Given the description of an element on the screen output the (x, y) to click on. 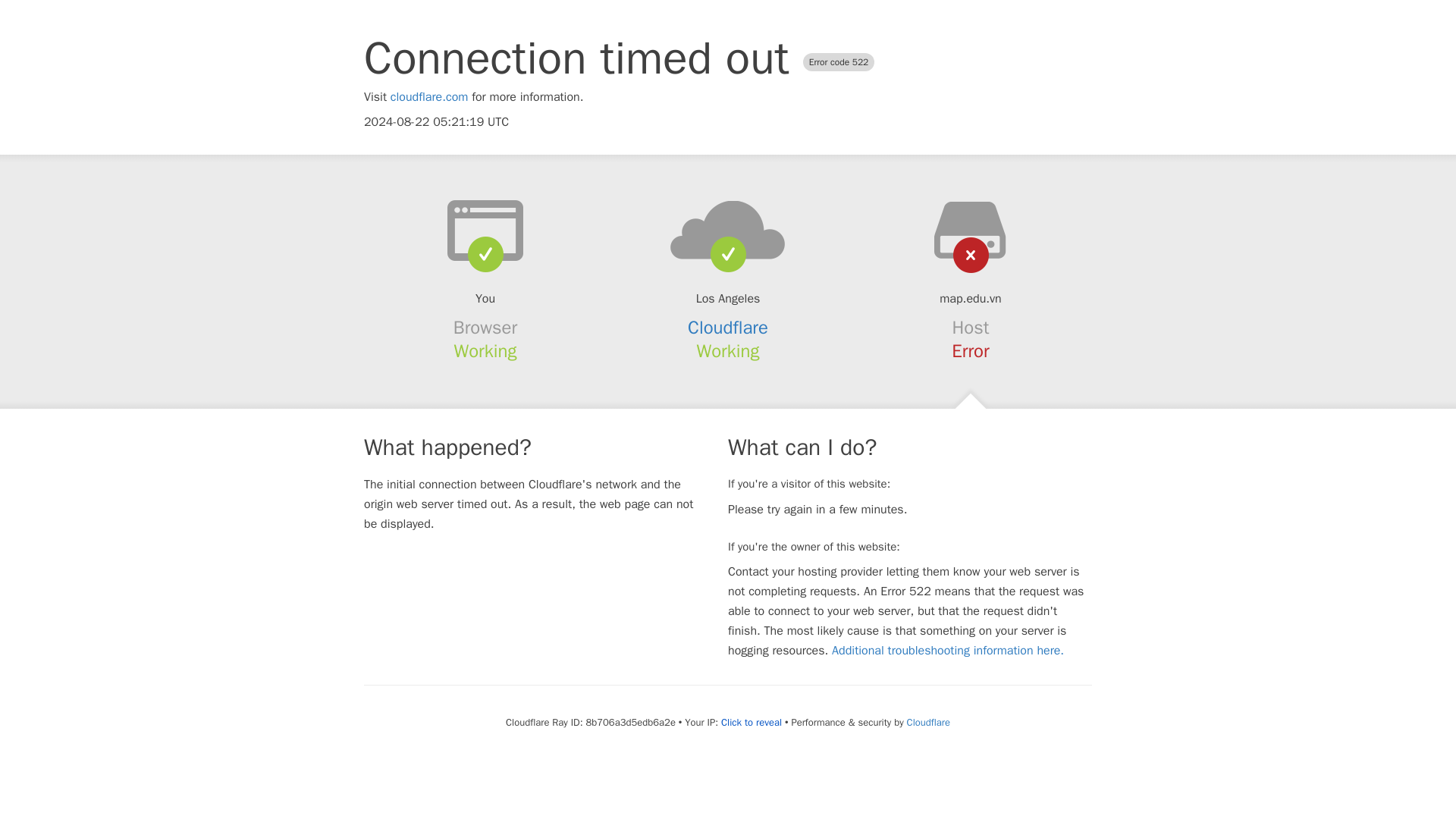
Additional troubleshooting information here. (947, 650)
cloudflare.com (429, 96)
Click to reveal (750, 722)
Cloudflare (928, 721)
Cloudflare (727, 327)
